Given the description of an element on the screen output the (x, y) to click on. 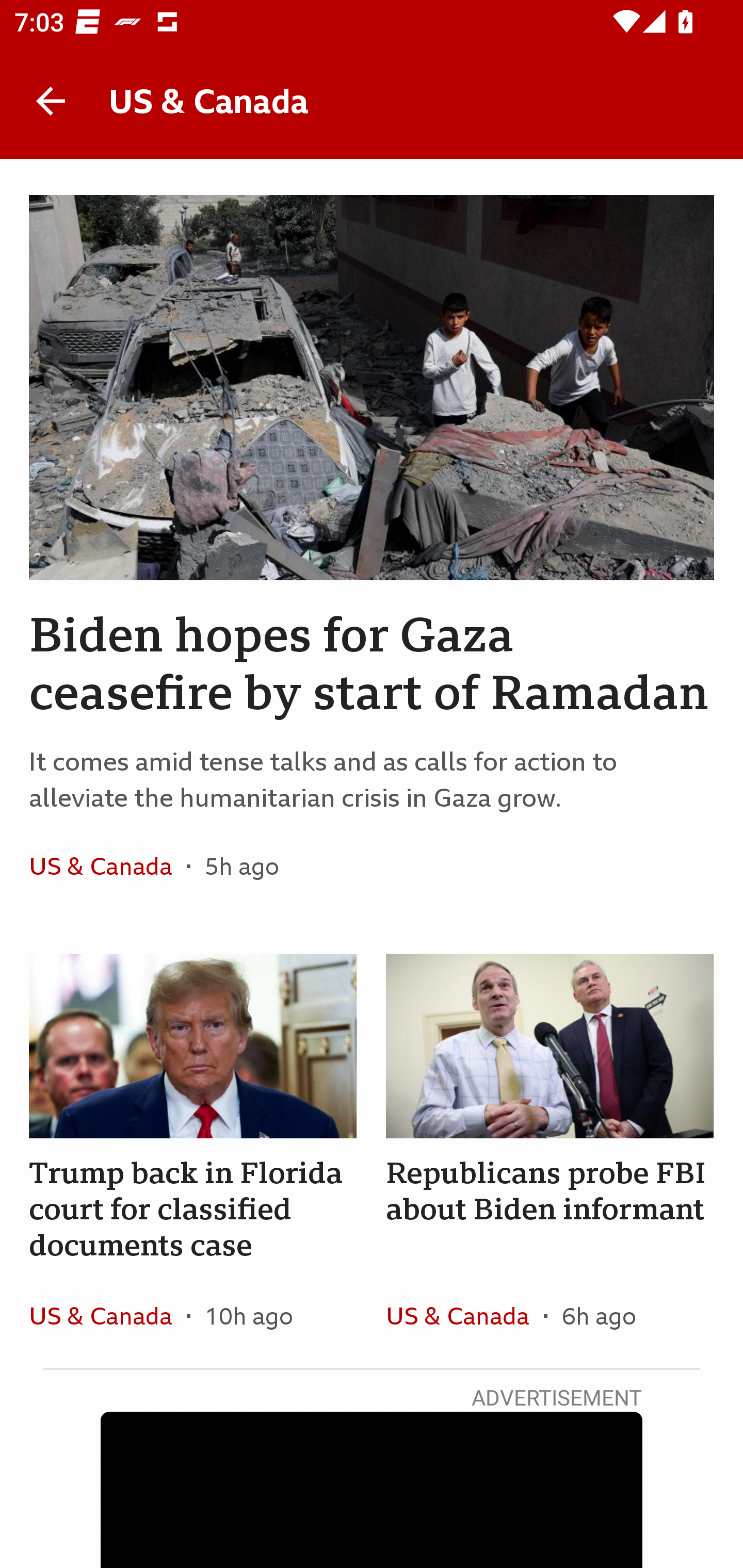
Back (50, 101)
US & Canada In the section US & Canada (107, 865)
US & Canada In the section US & Canada (107, 1315)
US & Canada In the section US & Canada (464, 1315)
